Given the description of an element on the screen output the (x, y) to click on. 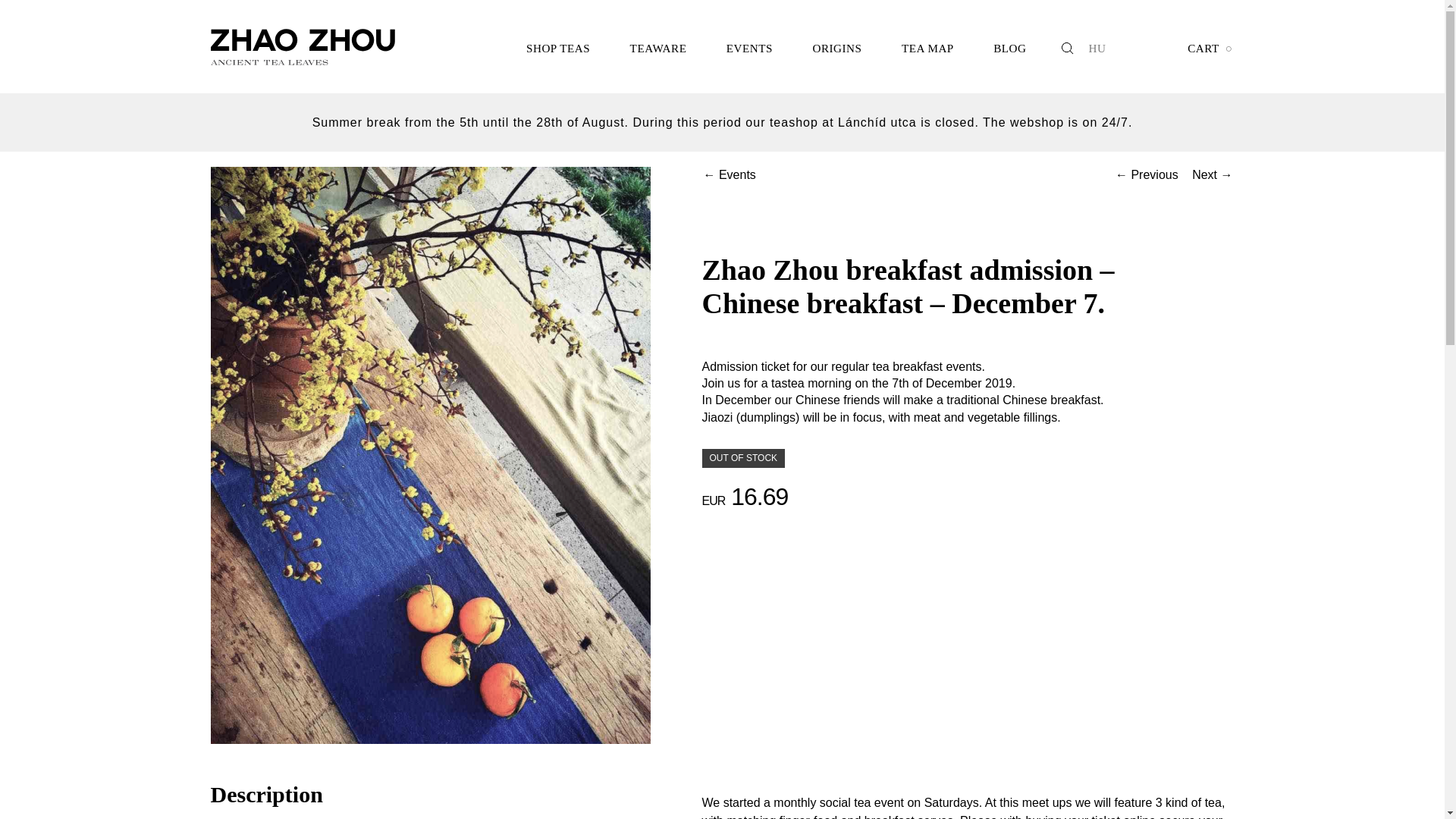
ORIGINS (836, 47)
BLOG (1009, 47)
HU (1097, 48)
EVENTS (749, 47)
TEAWARE (658, 47)
TEA MAP (928, 47)
SHOP TEAS (558, 47)
